Given the description of an element on the screen output the (x, y) to click on. 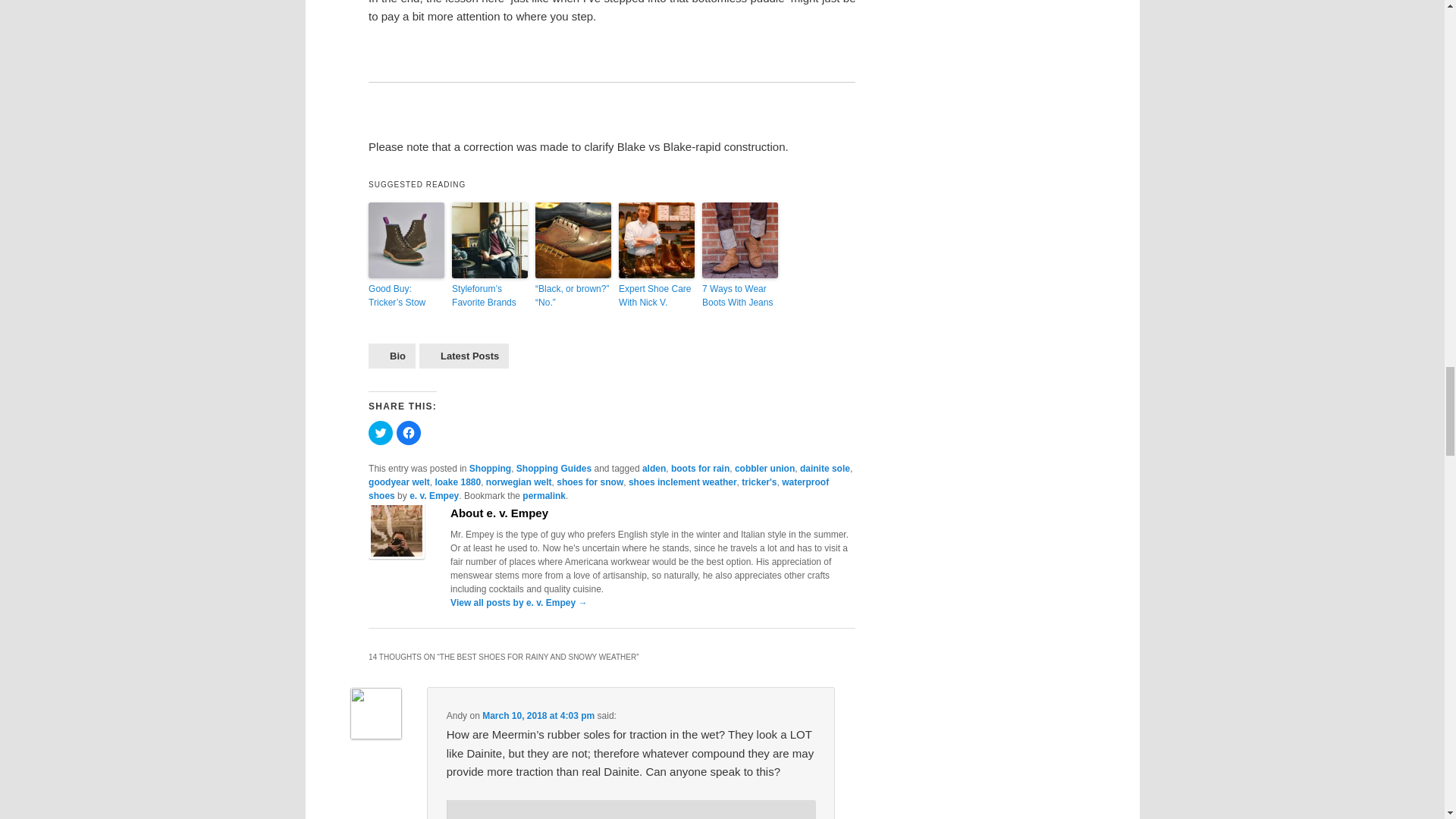
Permalink to The Best Shoes for Rainy and Snowy Weather (544, 495)
Click to share on Twitter (380, 432)
Click to share on Facebook (408, 432)
